Given the description of an element on the screen output the (x, y) to click on. 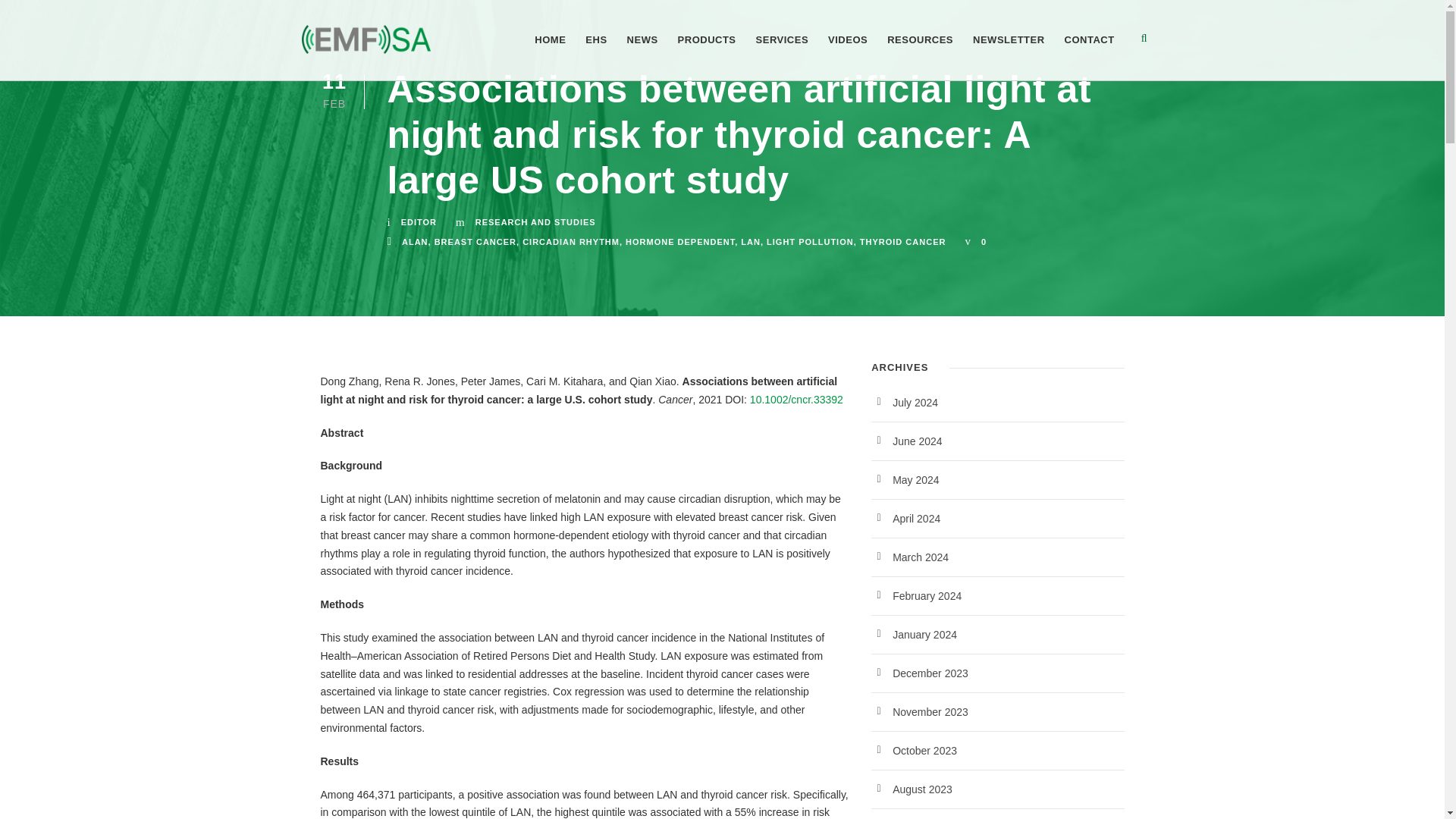
EHS (596, 55)
EMFSA logo (365, 39)
NEWS (642, 55)
twitter (1396, 16)
PRODUCTS (707, 55)
HOME (550, 55)
pinterest (1373, 16)
SERVICES (782, 55)
facebook (1350, 16)
Posts by Editor (418, 221)
